Given the description of an element on the screen output the (x, y) to click on. 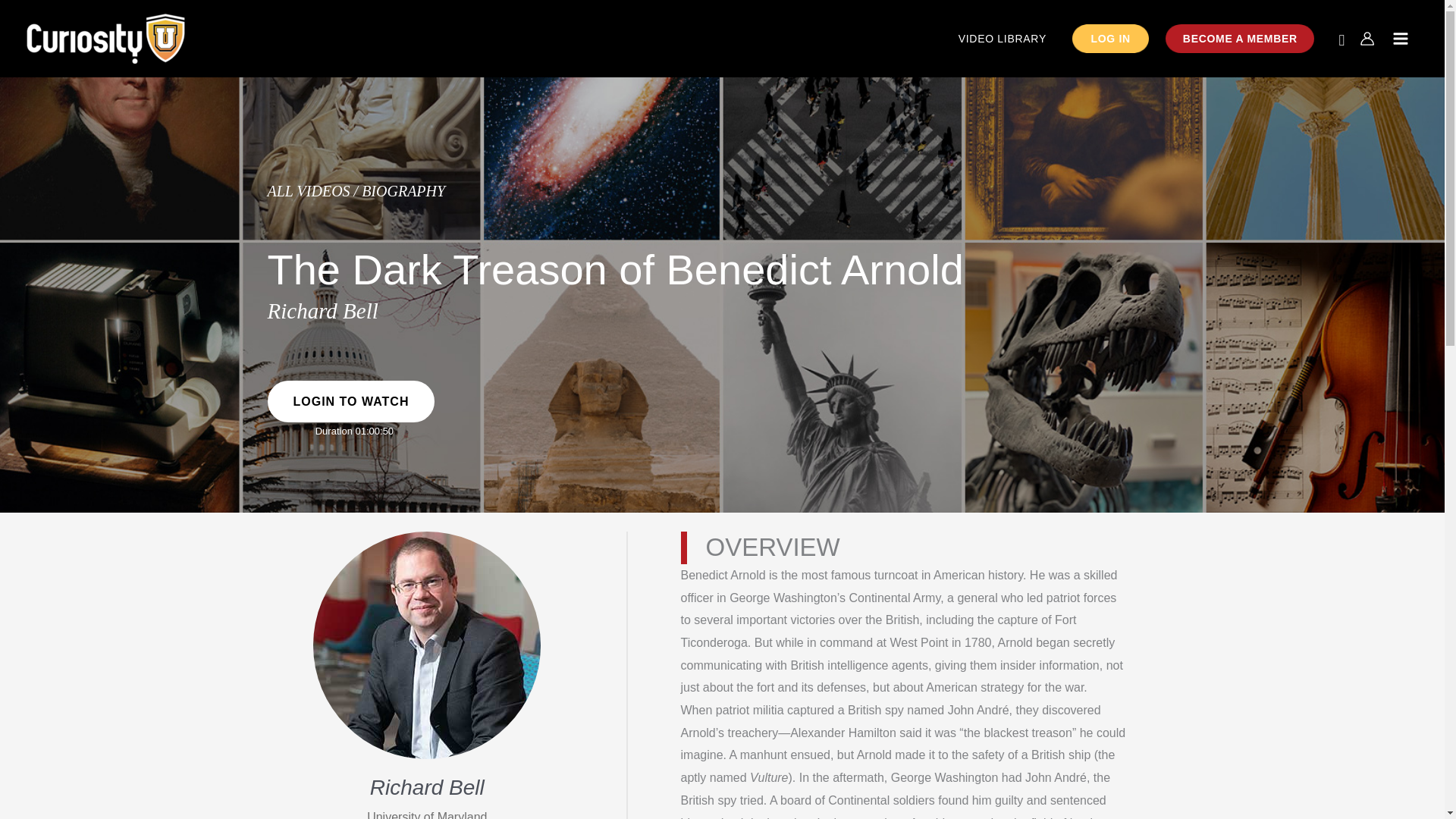
Richard Bell (321, 310)
BECOME A MEMBER (1239, 38)
LOG IN (1110, 38)
BIOGRAPHY (403, 190)
VIDEO LIBRARY (1002, 38)
LOGIN TO WATCH (349, 401)
ALL VIDEOS (307, 190)
Richard Bell (426, 787)
